Given the description of an element on the screen output the (x, y) to click on. 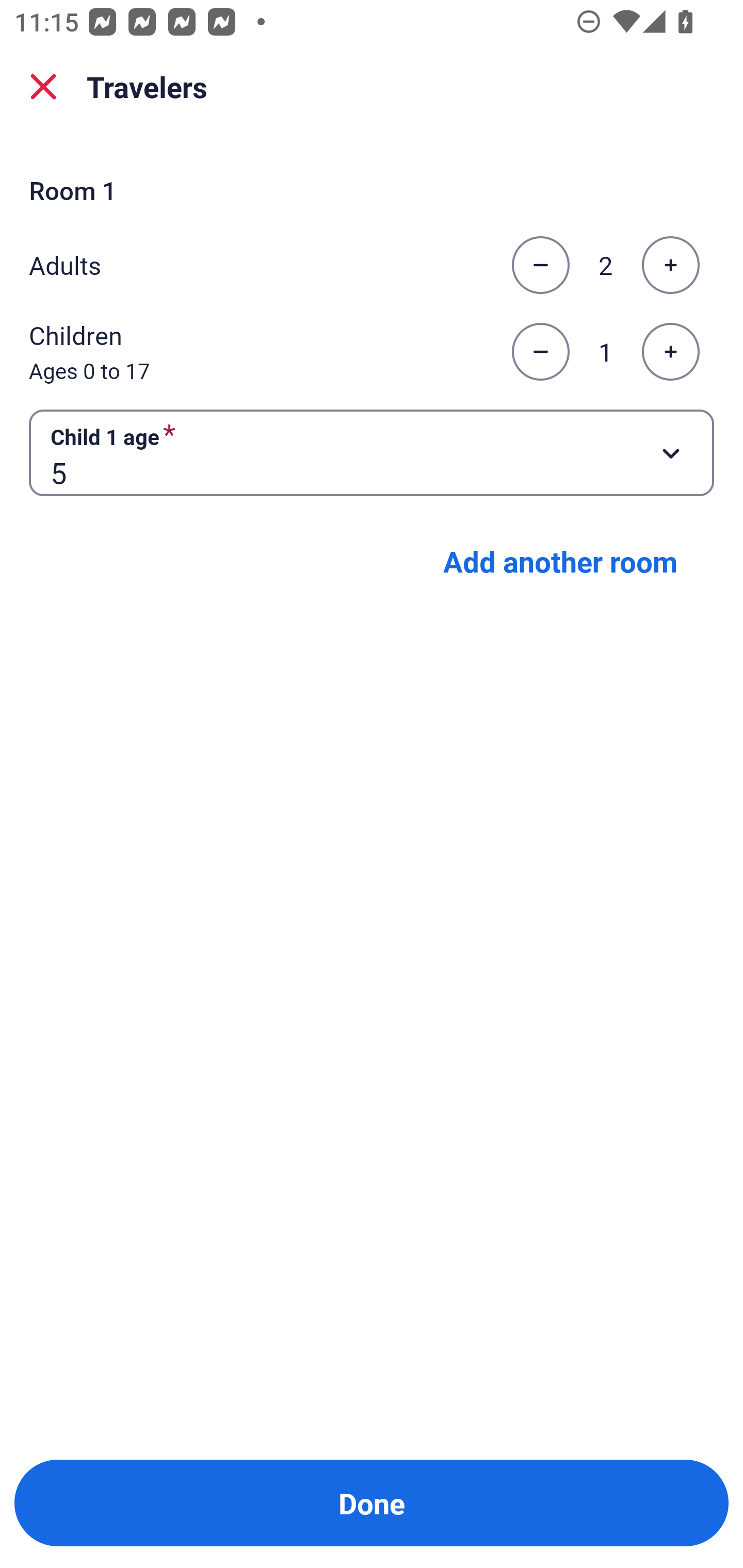
close (43, 86)
Decrease the number of adults (540, 264)
Increase the number of adults (670, 264)
Decrease the number of children (540, 351)
Increase the number of children (670, 351)
Child 1 age required Button 5 (371, 452)
Add another room (560, 561)
Done (371, 1502)
